Given the description of an element on the screen output the (x, y) to click on. 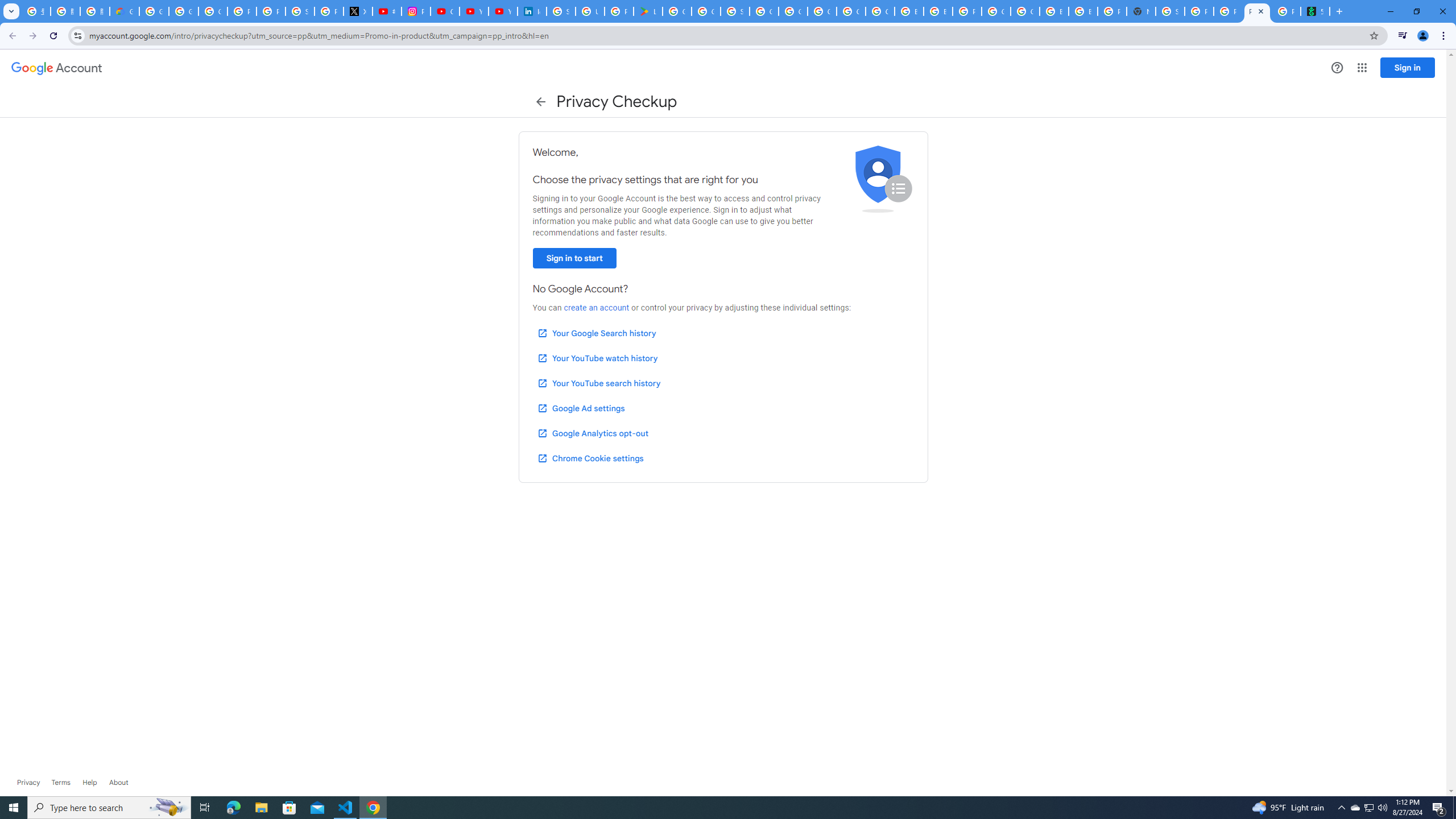
Privacy Help Center - Policies Help (271, 11)
Google Account settings (56, 68)
X (357, 11)
